Given the description of an element on the screen output the (x, y) to click on. 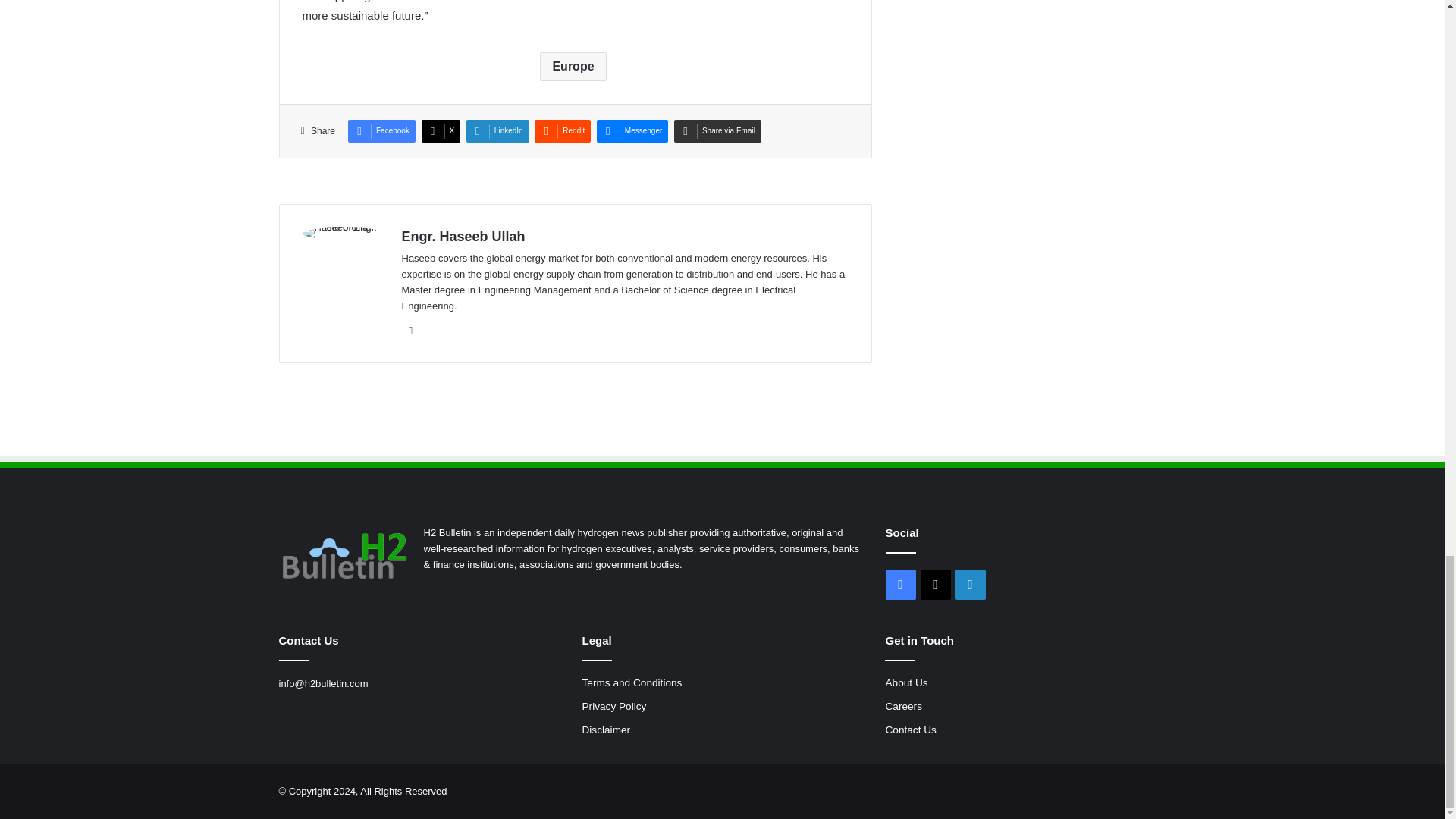
Facebook (380, 130)
Engr. Haseeb Ullah (463, 236)
Reddit (562, 130)
LinkedIn (497, 130)
Share via Email (717, 130)
Facebook (380, 130)
LinkedIn (410, 330)
Europe (572, 66)
Reddit (562, 130)
Messenger (632, 130)
